Given the description of an element on the screen output the (x, y) to click on. 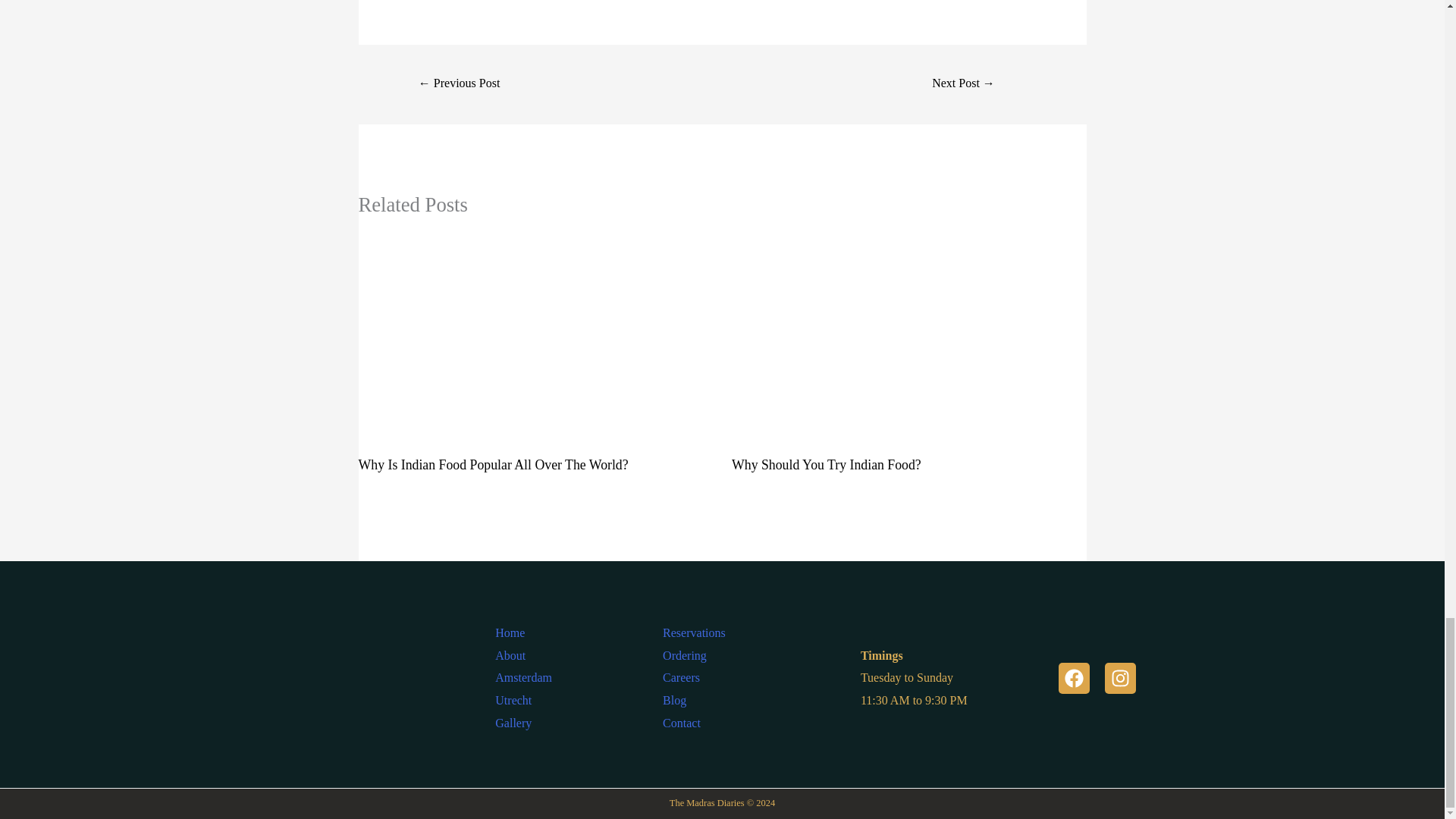
Why Should You Try Indian Food? (826, 464)
Milagu Rasam: The Ultimate Comfort for Cold Weather (962, 84)
Why Is Indian Food Popular All Over The World? (492, 464)
